Given the description of an element on the screen output the (x, y) to click on. 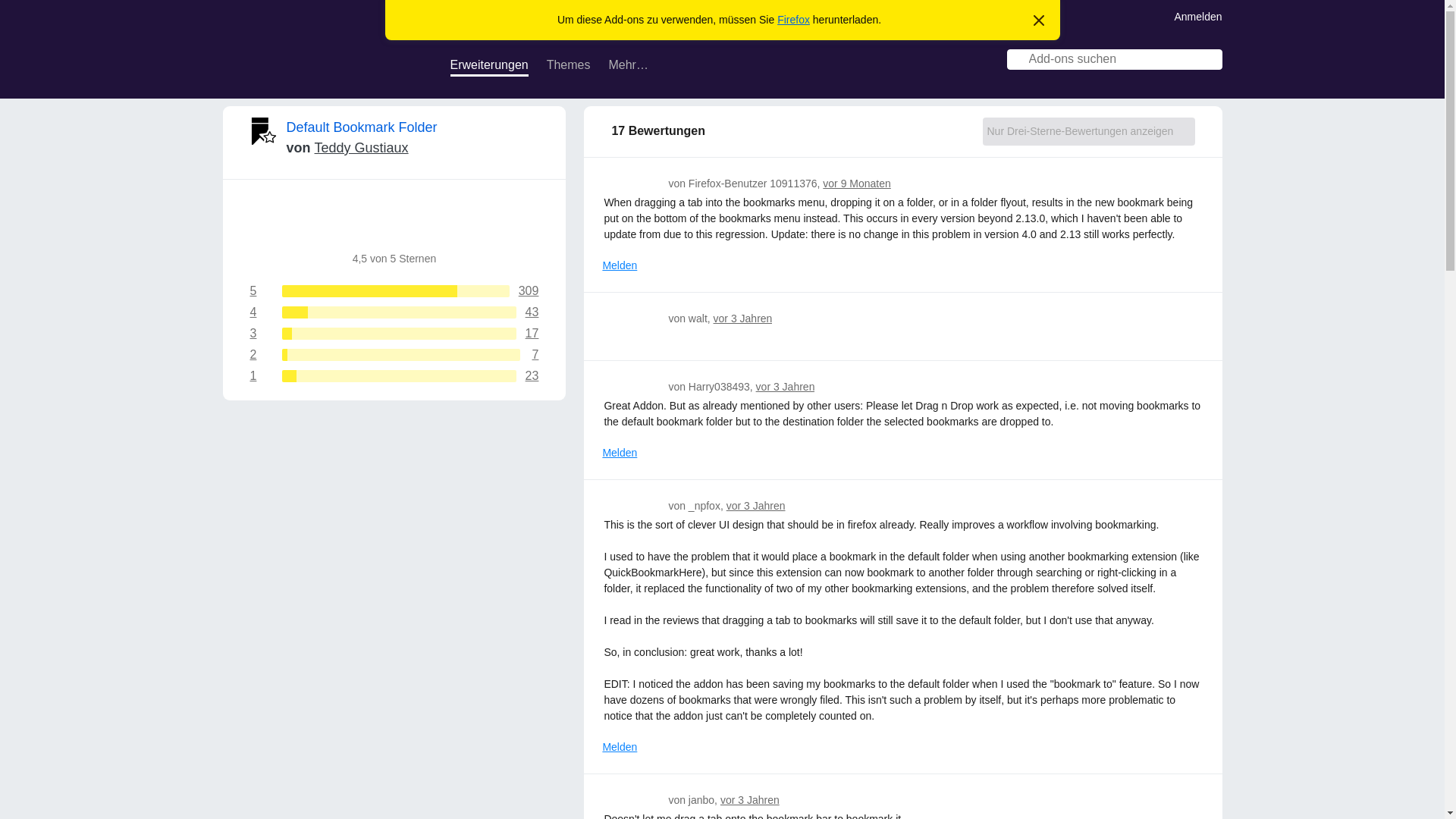
Bewertet mit 4,5 von 5 Sternen (453, 222)
Lesen Sie die 23 Ein-Stern-Bewertungen (394, 376)
Bewertet mit 3 von 5 Sternen (394, 376)
Default Bookmark Folder (619, 182)
Lesen Sie alle 7 Zwei-Sterne-Bewertungen (362, 127)
Suchen (394, 354)
vor 3 Jahren (1212, 61)
Diesen Hinweis verwerfen (394, 312)
vor 3 Jahren (749, 799)
Erweiterungen (1038, 21)
Bewertet mit 3 von 5 Sternen (756, 505)
vor 3 Jahren (488, 66)
vor 3 Jahren (632, 182)
